Given the description of an element on the screen output the (x, y) to click on. 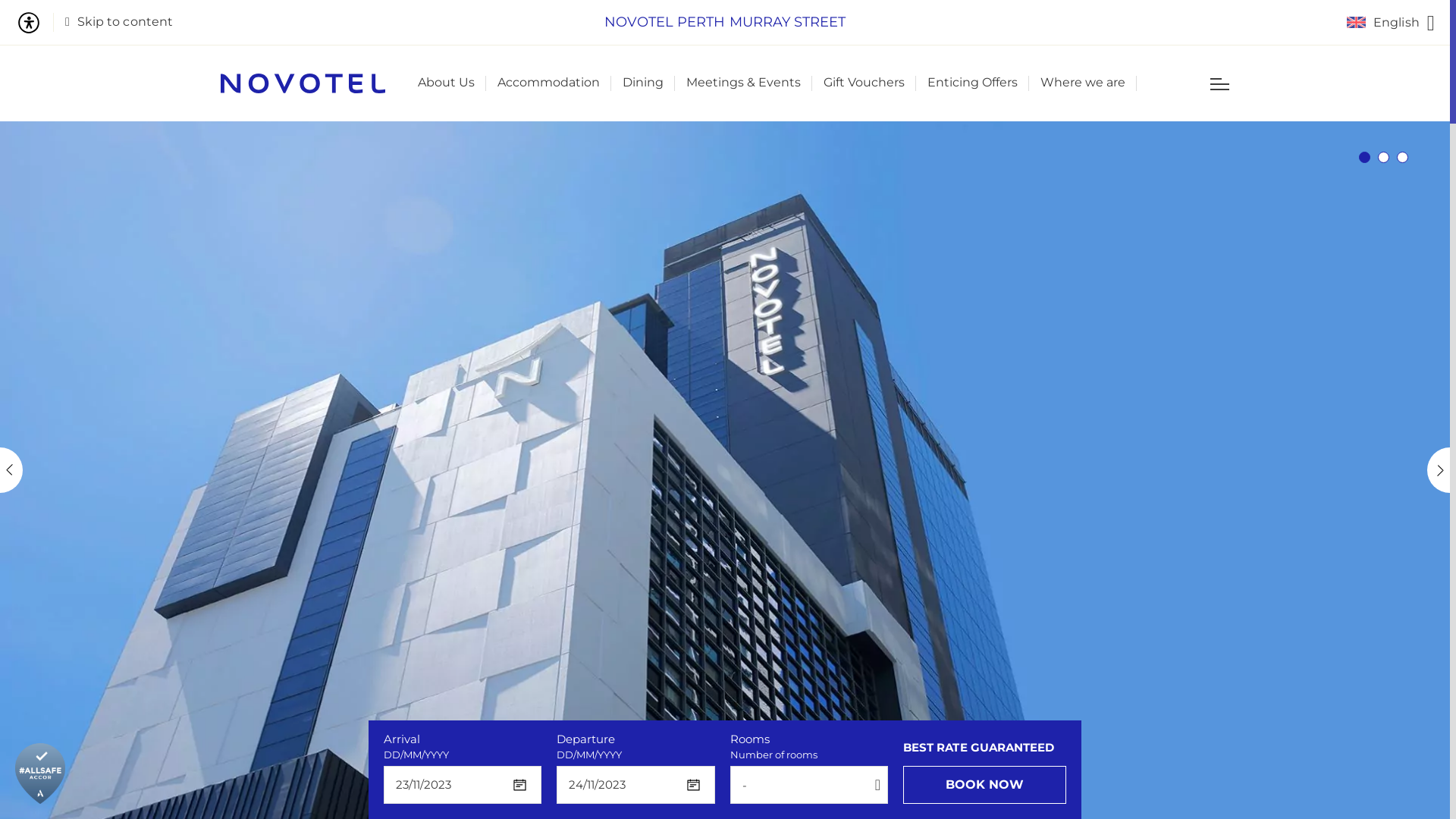
Back to home page Element type: hover (302, 83)
English Element type: text (1390, 22)
Accessibility Options Element type: hover (34, 22)
Dining Element type: text (642, 83)
ALLSAFE approved hotel Element type: hover (40, 773)
Open main navigation menu Element type: hover (1219, 83)
Accommodation Element type: text (548, 83)
About Us Element type: text (445, 83)
Meetings & Events Element type: text (743, 83)
NOVOTEL PERTH MURRAY STREET Element type: text (724, 22)
Skip to content Element type: text (118, 22)
Enticing Offers Element type: text (972, 83)
Book now Element type: text (984, 784)
Where we are Element type: text (1082, 83)
Gift Vouchers Element type: text (863, 83)
